Given the description of an element on the screen output the (x, y) to click on. 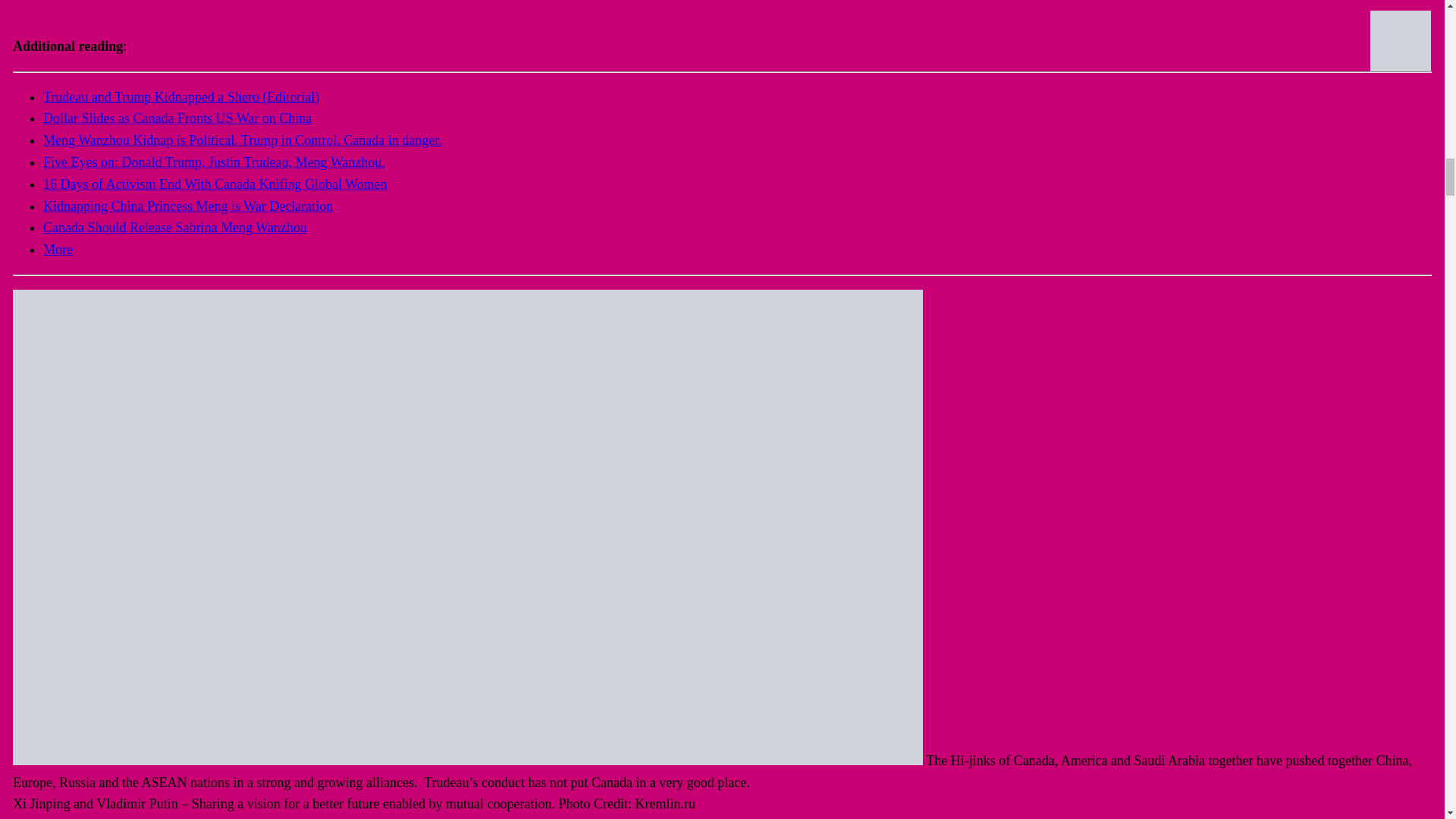
Five Eyes on: Donald Trump, Justin Trudeau, Meng Wanzhou. (214, 161)
Dollar Slides as Canada Fronts US War on China (177, 118)
16 Days of Activism End With Canada Knifing Global Women (215, 183)
